Given the description of an element on the screen output the (x, y) to click on. 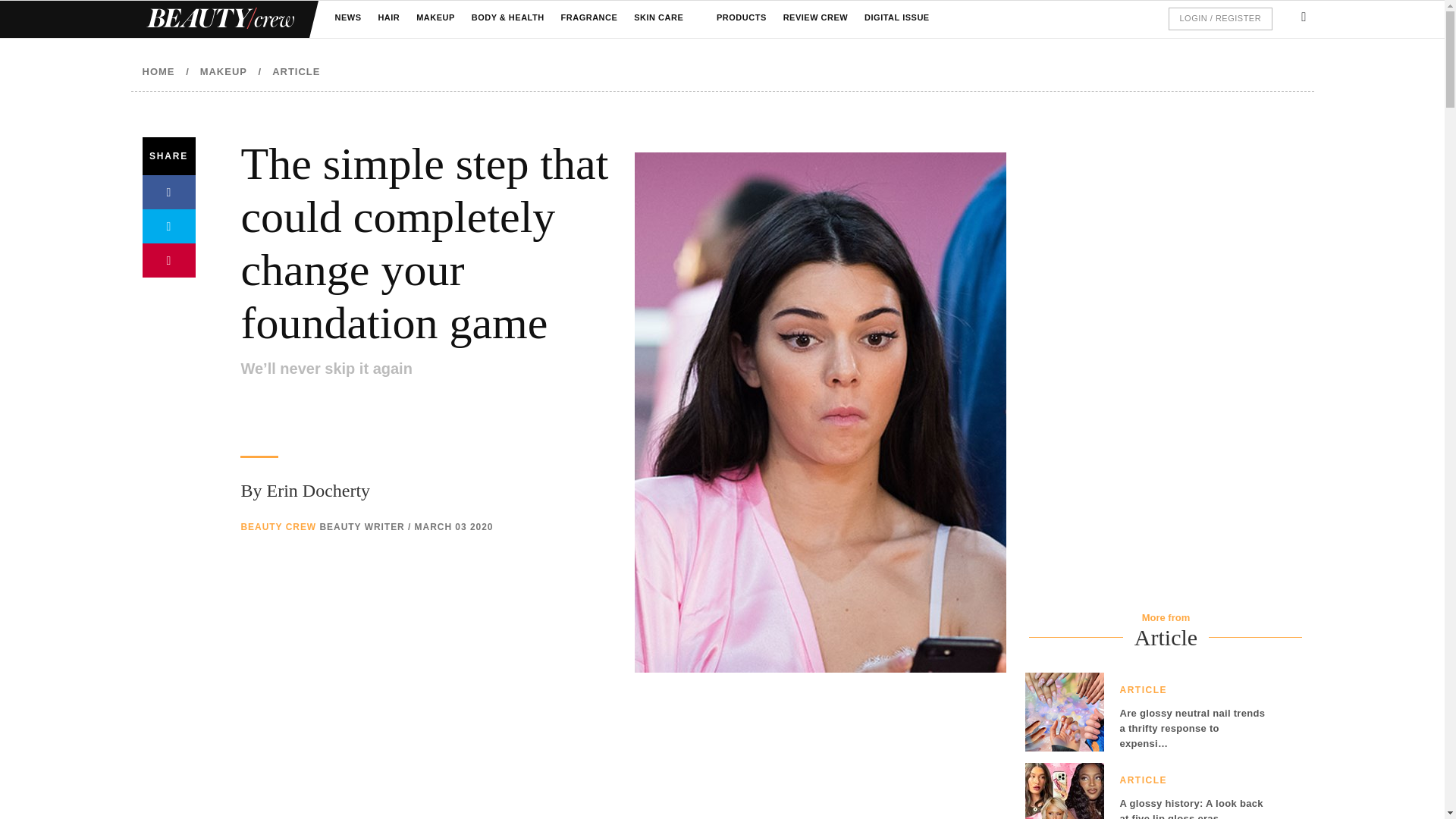
NEWS (347, 18)
HAIR (387, 18)
3rd party ad content (623, 763)
Home (218, 18)
MAKEUP (435, 18)
